Given the description of an element on the screen output the (x, y) to click on. 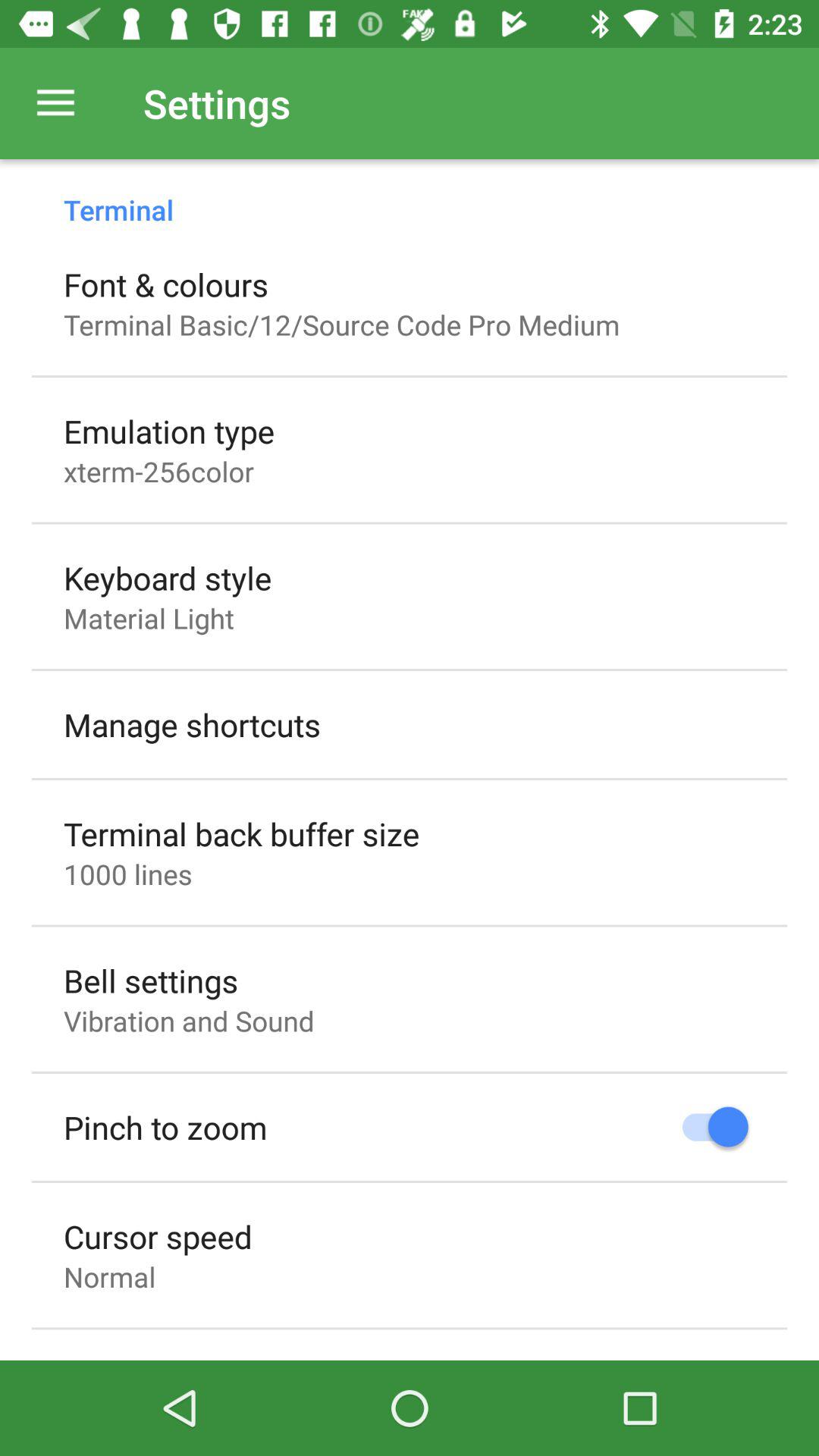
turn off item to the right of the pinch to zoom icon (707, 1126)
